Given the description of an element on the screen output the (x, y) to click on. 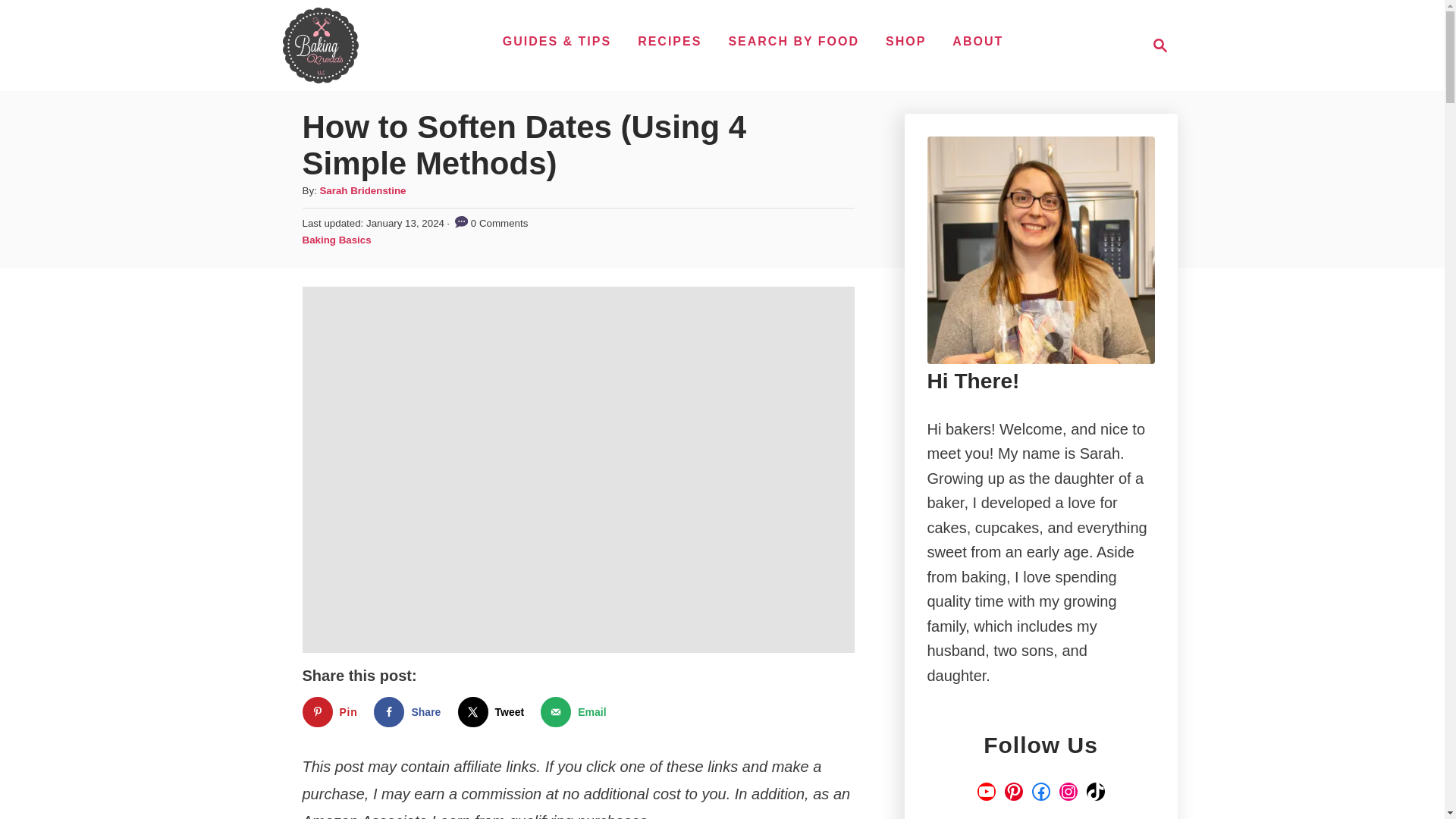
Magnifying Glass (1160, 45)
Share on Facebook (410, 711)
Share (410, 711)
Baking Kneads, LLC (320, 45)
Send over email (576, 711)
Share on X (494, 711)
RECIPES (669, 41)
SHOP (905, 41)
Save to Pinterest (332, 711)
SEARCH BY FOOD (793, 41)
